Given the description of an element on the screen output the (x, y) to click on. 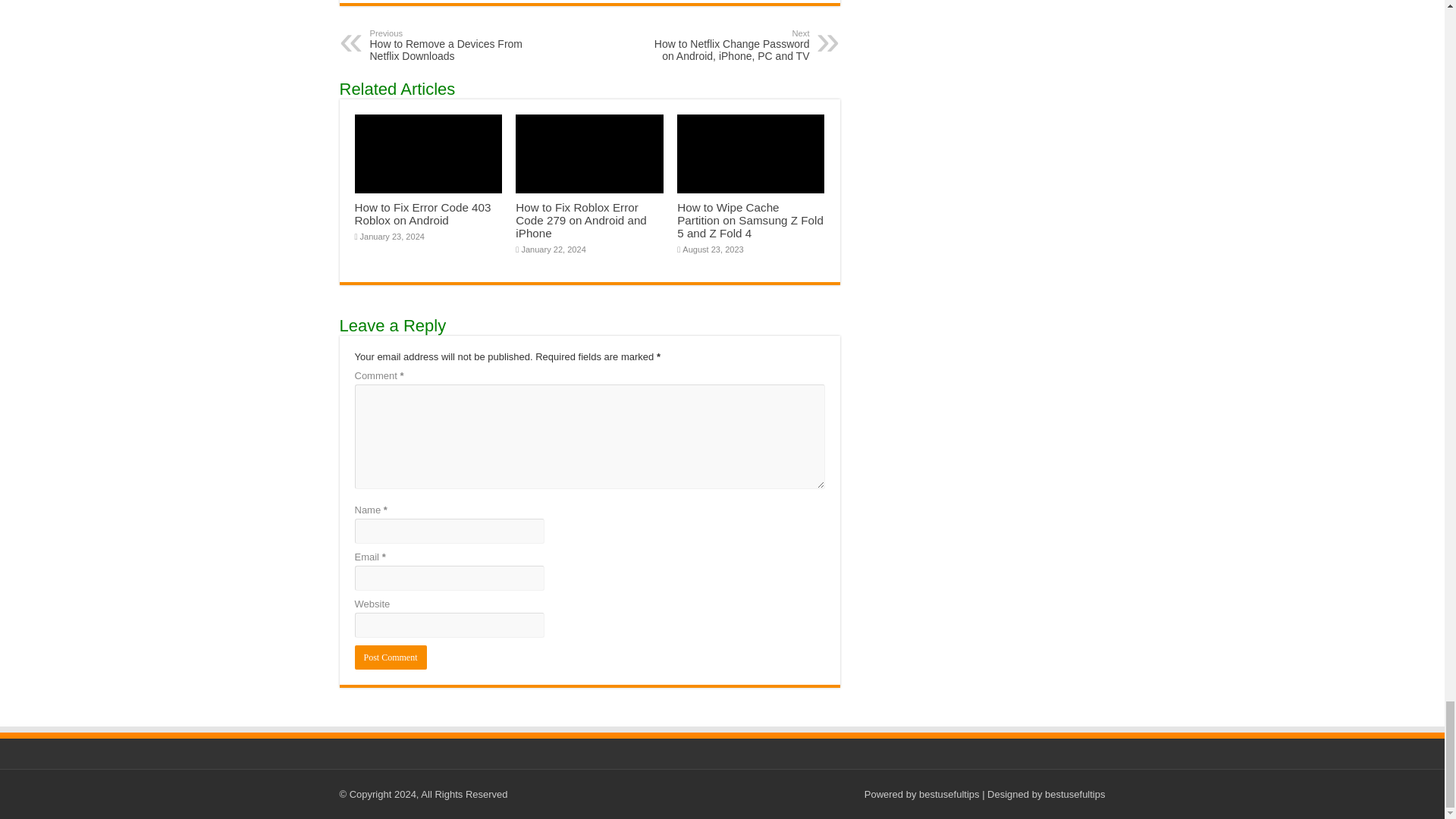
Post Comment (390, 657)
